Given the description of an element on the screen output the (x, y) to click on. 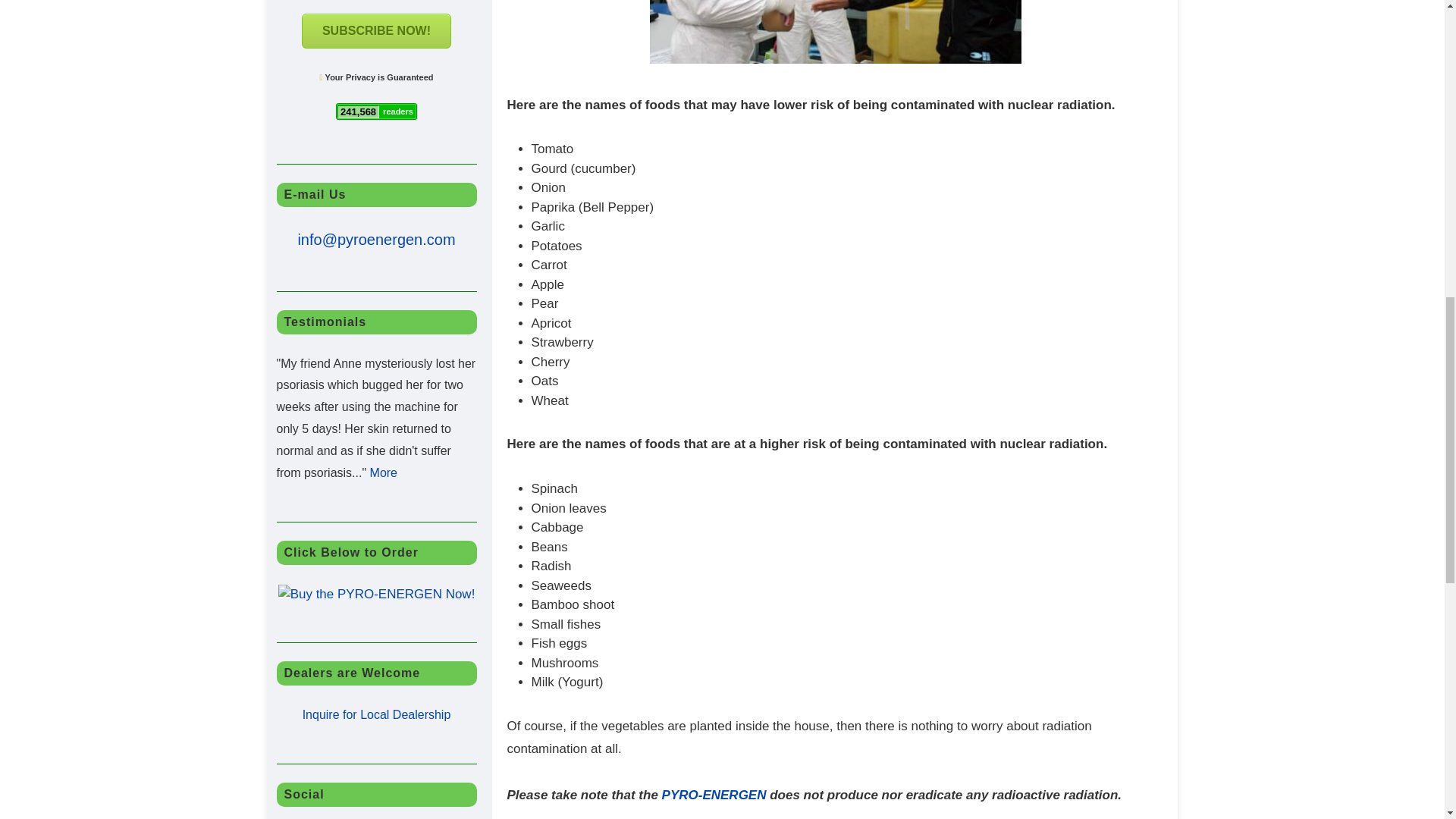
Inquire for Local Dealership (376, 714)
PYRO-ENERGEN (714, 794)
More (383, 472)
SUBSCRIBE NOW! (376, 30)
